Given the description of an element on the screen output the (x, y) to click on. 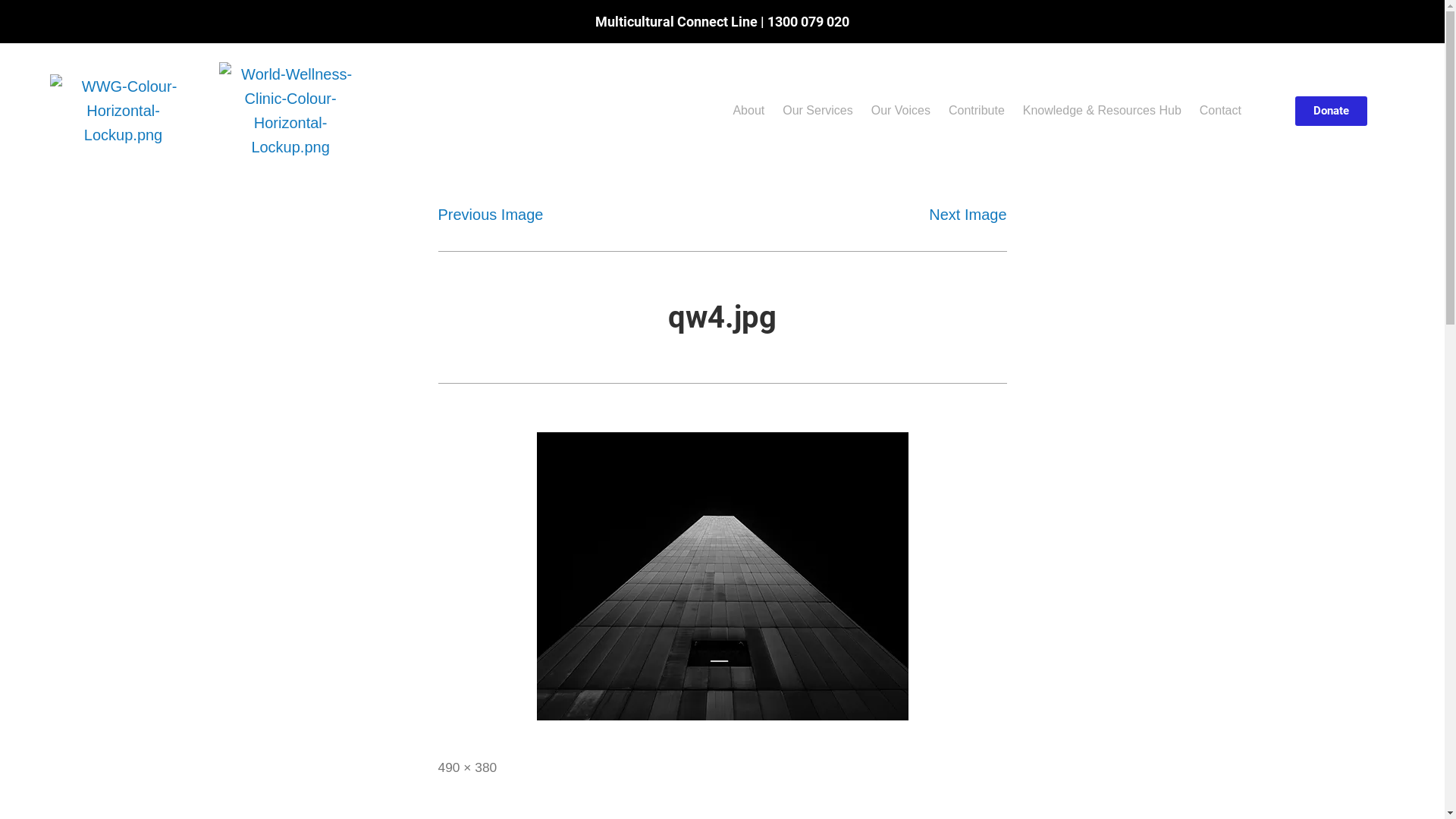
WWG-Colour-Horizontal-Lockup.png Element type: hover (123, 110)
Our Services Element type: text (817, 110)
Our Voices Element type: text (900, 110)
Contact Element type: text (1220, 110)
Donate Element type: text (1331, 110)
Multicultural Connect Line | 1300 079 020 Element type: text (722, 21)
Next Image Element type: text (967, 214)
Contribute Element type: text (976, 110)
Previous Image Element type: text (490, 214)
World-Wellness-Clinic-Colour-Horizontal-Lockup.png Element type: hover (290, 110)
About Element type: text (748, 110)
Knowledge & Resources Hub Element type: text (1101, 110)
